Given the description of an element on the screen output the (x, y) to click on. 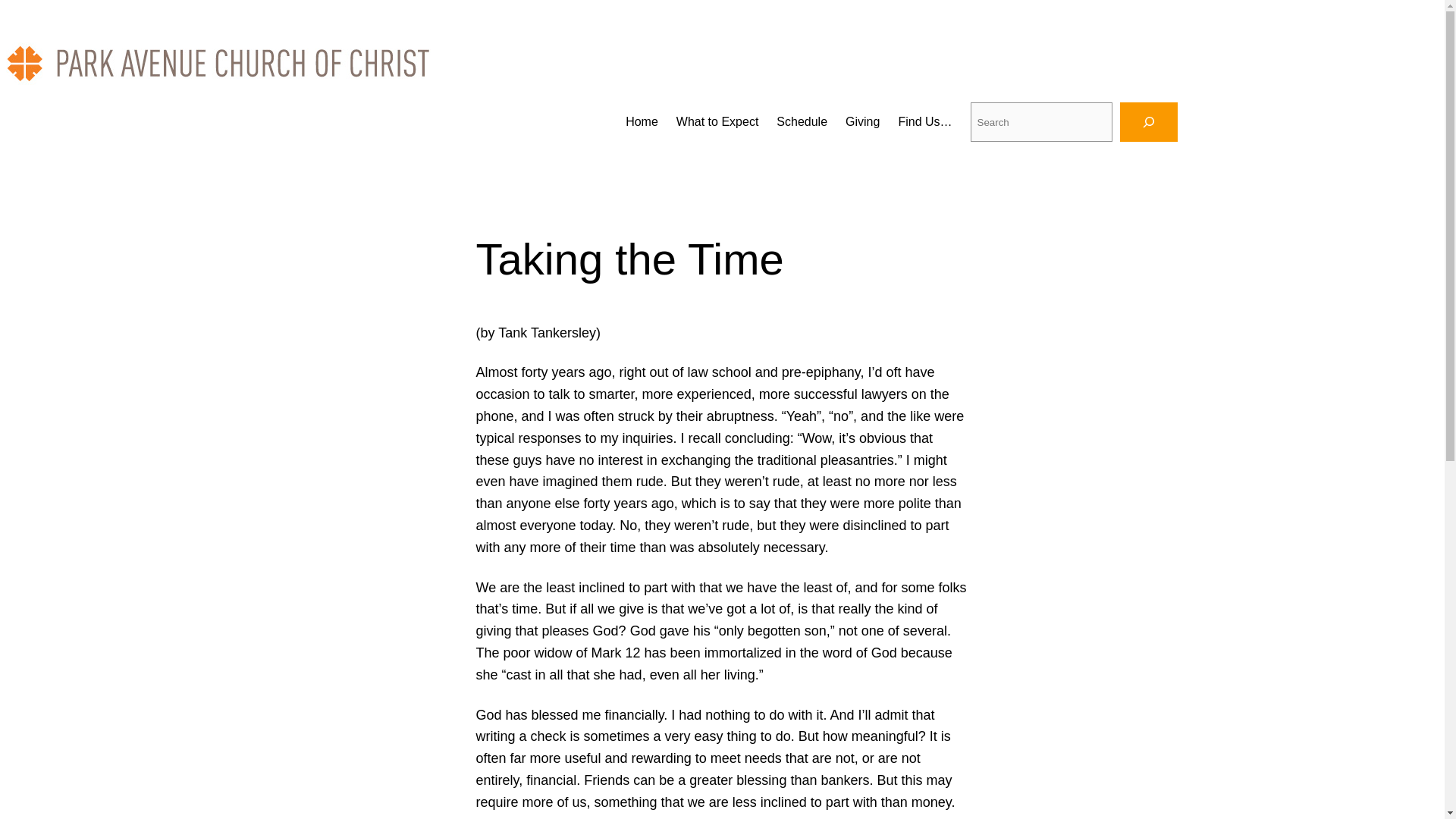
Giving (862, 121)
Home (642, 121)
What to Expect (717, 121)
Schedule (801, 121)
